Given the description of an element on the screen output the (x, y) to click on. 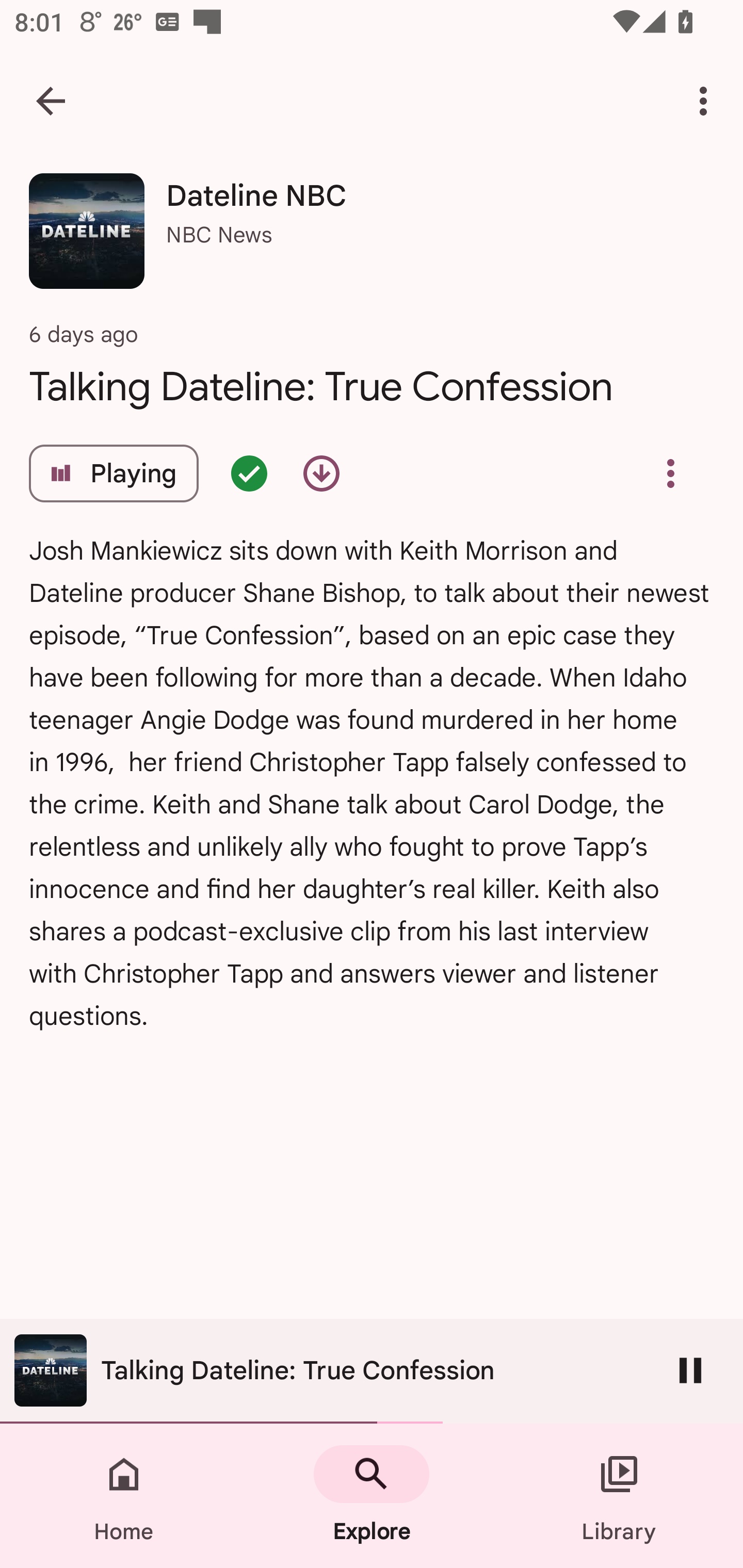
Navigate up (50, 101)
More options (706, 101)
Dateline NBC Dateline NBC NBC News (371, 238)
Episode queued - double tap for options (249, 473)
Download episode (321, 473)
Overflow menu (670, 473)
Pause (690, 1370)
Home (123, 1495)
Library (619, 1495)
